Given the description of an element on the screen output the (x, y) to click on. 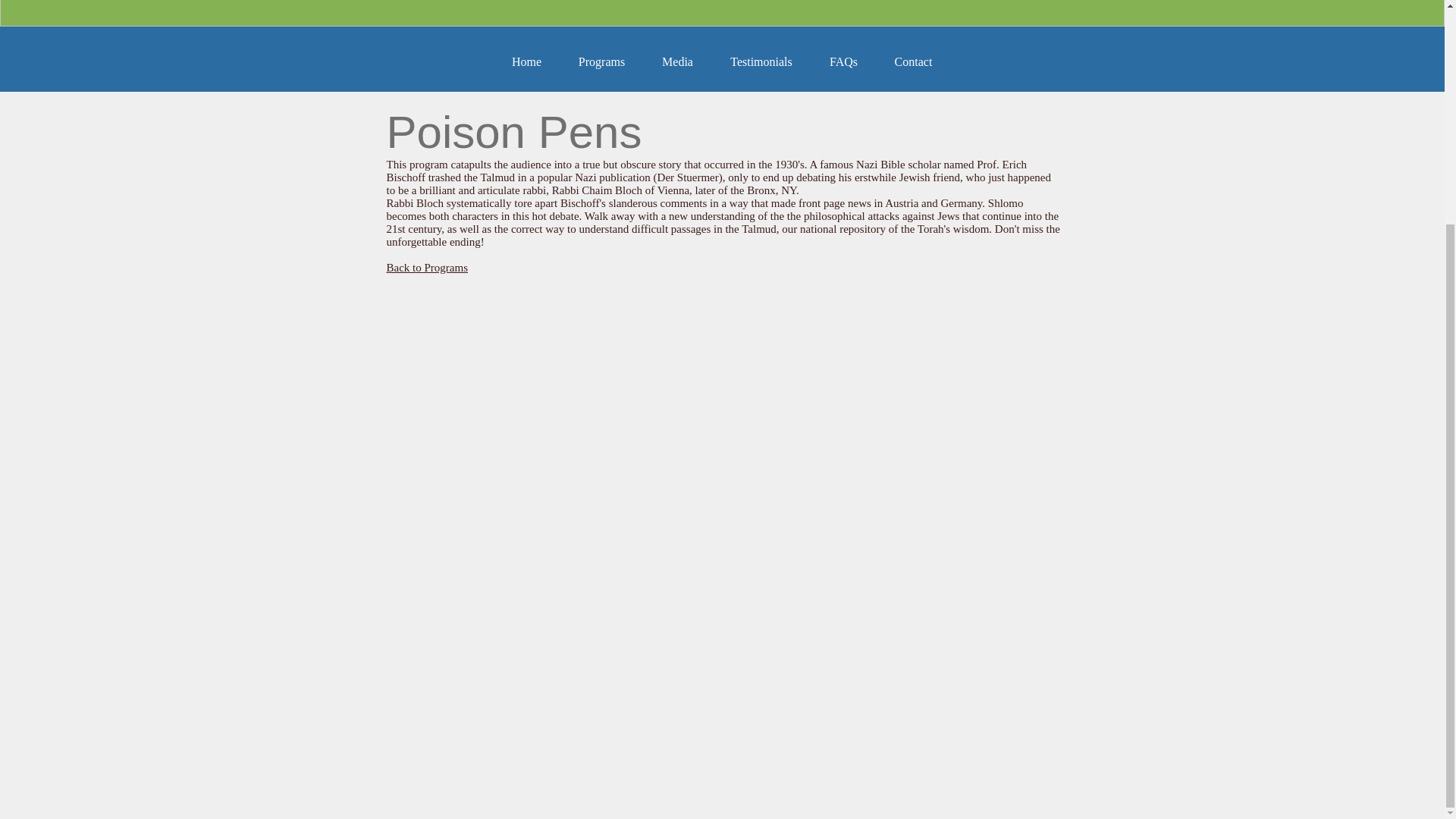
Contact (913, 61)
Back to Programs (427, 267)
Programs (601, 61)
Home (526, 61)
Testimonials (760, 61)
FAQs (843, 61)
Media (677, 61)
